Given the description of an element on the screen output the (x, y) to click on. 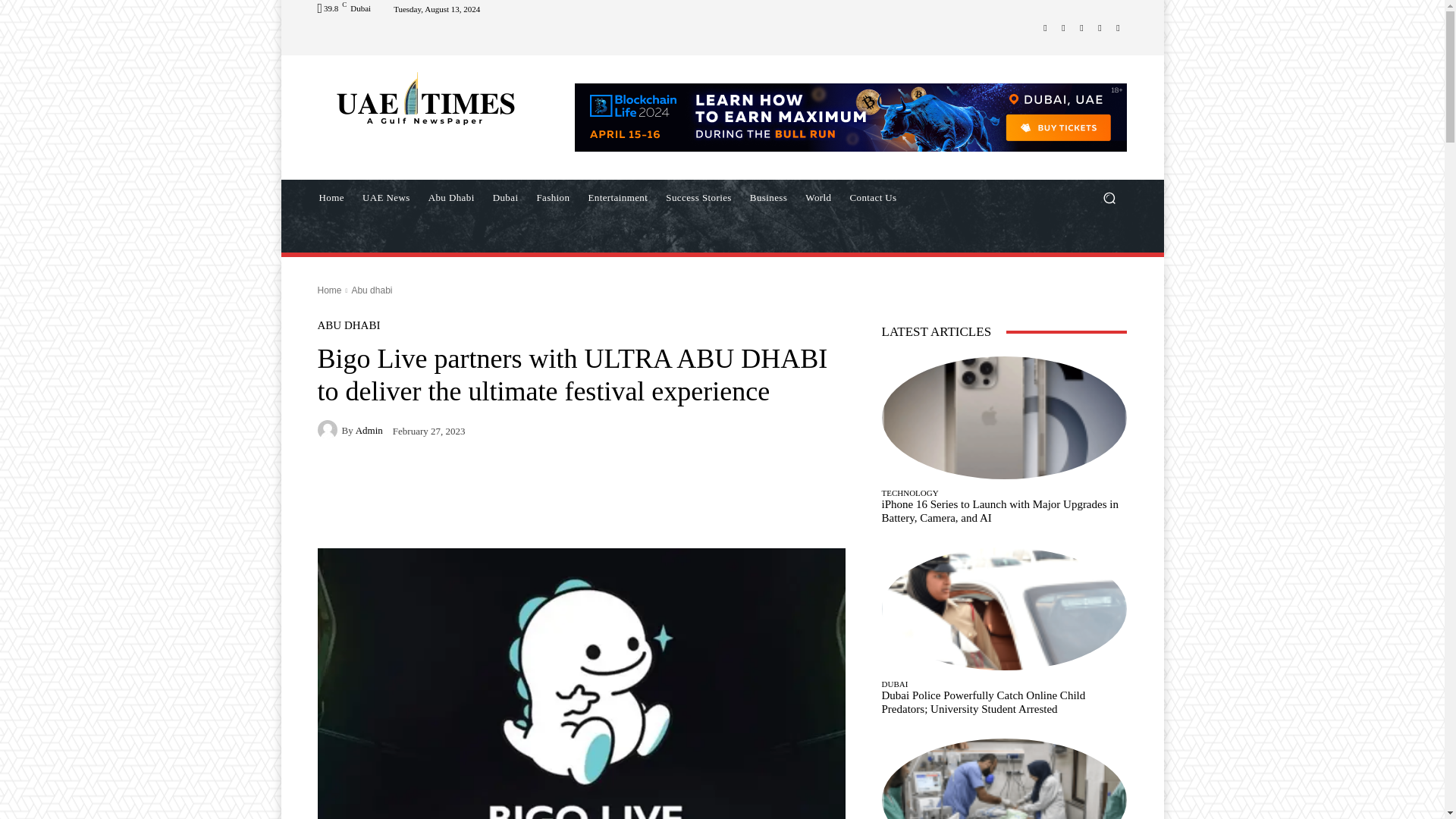
Fashion (552, 197)
Business (768, 197)
Home (330, 197)
Instagram (1062, 27)
Twitter (1099, 27)
Facebook (1044, 27)
Contact Us (872, 197)
WhatsApp (1117, 27)
Dubai (505, 197)
Success Stories (698, 197)
